Given the description of an element on the screen output the (x, y) to click on. 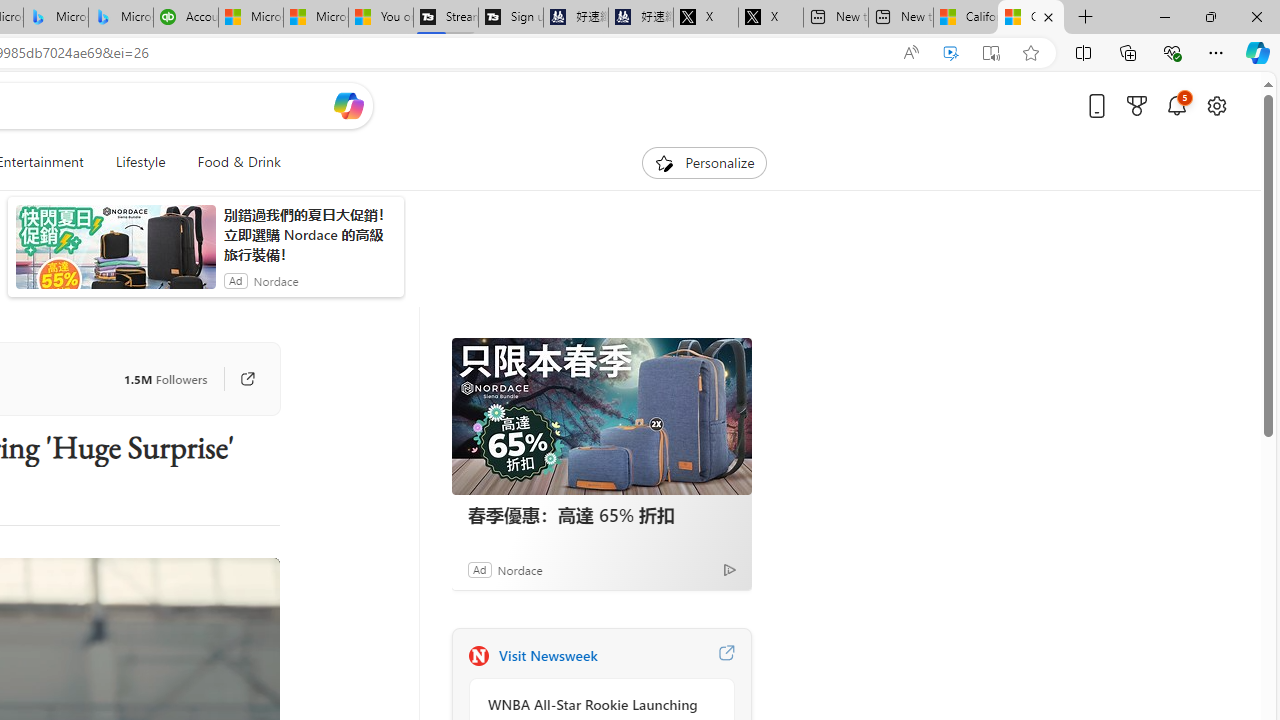
Go to publisher's site (237, 378)
Accounting Software for Accountants, CPAs and Bookkeepers (185, 17)
Lifestyle (139, 162)
